Given the description of an element on the screen output the (x, y) to click on. 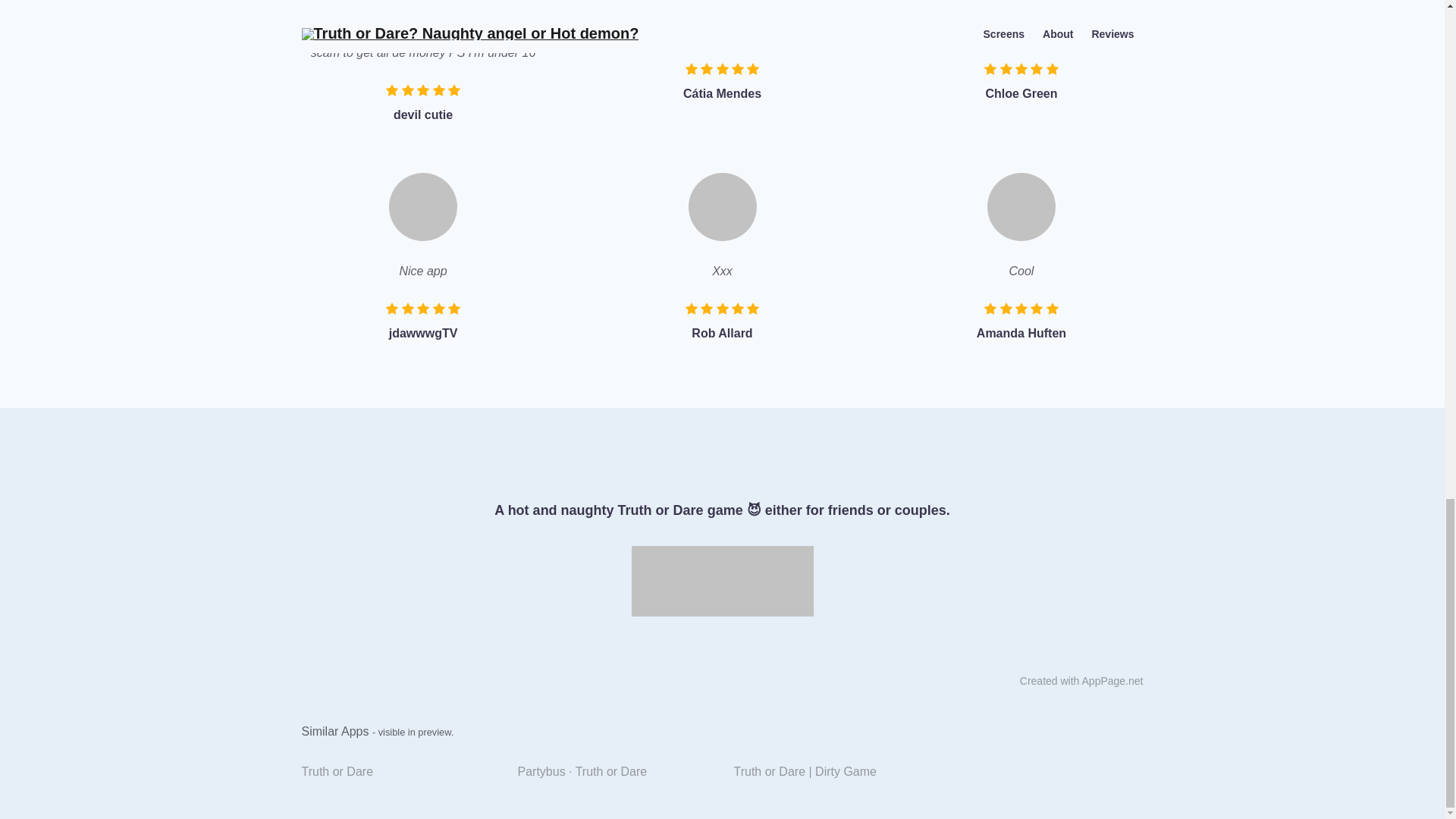
AppPage.net (1111, 680)
Truth or Dare (397, 771)
